Given the description of an element on the screen output the (x, y) to click on. 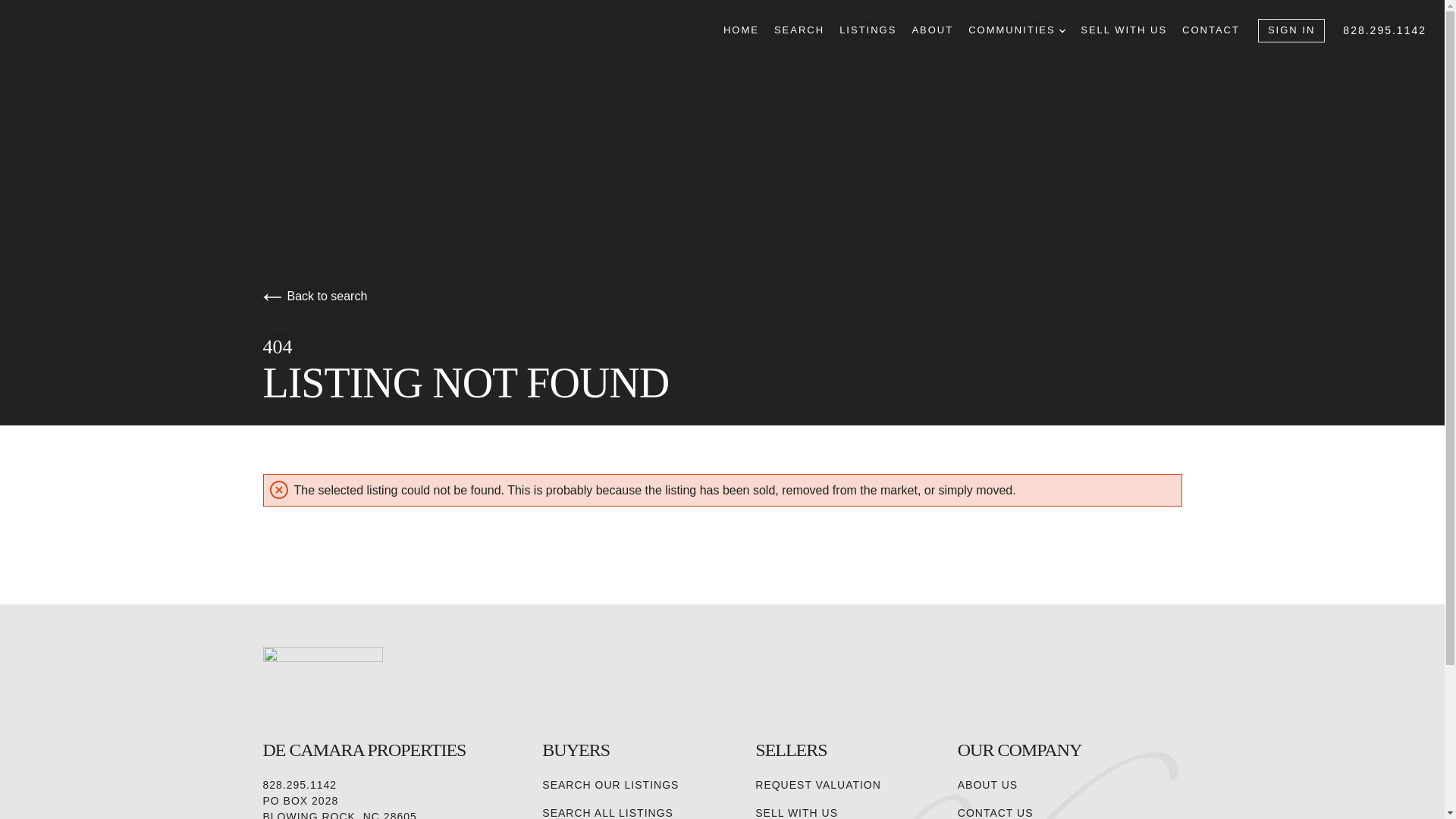
LISTINGS (868, 30)
SIGN IN (1290, 30)
ABOUT US (987, 785)
SEARCH OUR LISTINGS (609, 785)
SELL WITH US (1123, 30)
CONTACT US (995, 812)
ABOUT (932, 30)
CONTACT (1211, 30)
SEARCH ALL LISTINGS (606, 812)
HOME (740, 30)
COMMUNITIES DROPDOWN ARROW (1016, 30)
Back to search (314, 295)
SELL WITH US (796, 812)
828.295.1142 (1384, 29)
DROPDOWN ARROW (1062, 30)
